Given the description of an element on the screen output the (x, y) to click on. 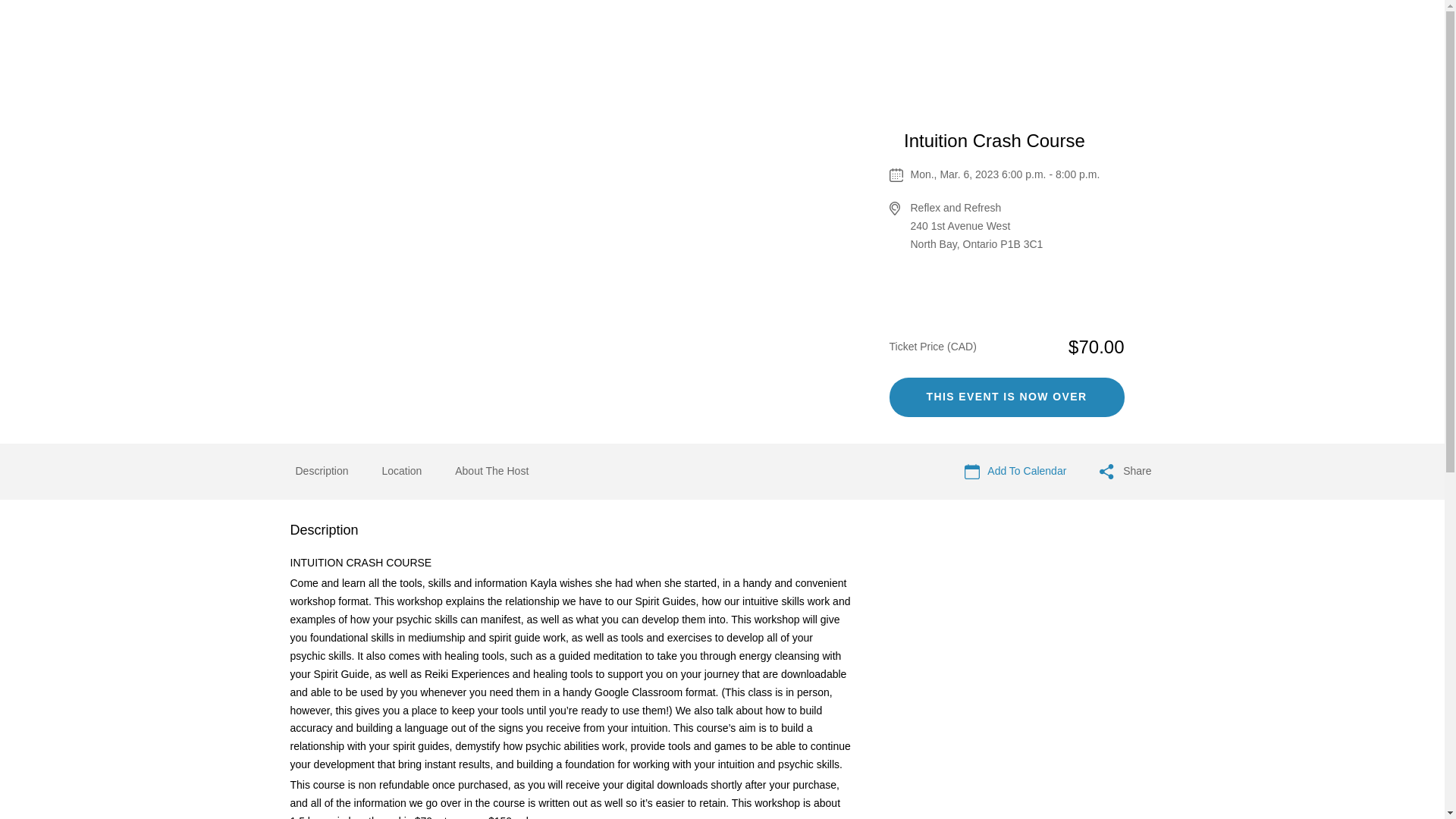
About The Host (491, 470)
Share (1125, 471)
Description (322, 470)
About The Host (491, 471)
Add To Calendar (1014, 471)
Description (322, 471)
Add To Calendar (1014, 471)
Location (401, 471)
Location (401, 470)
